Given the description of an element on the screen output the (x, y) to click on. 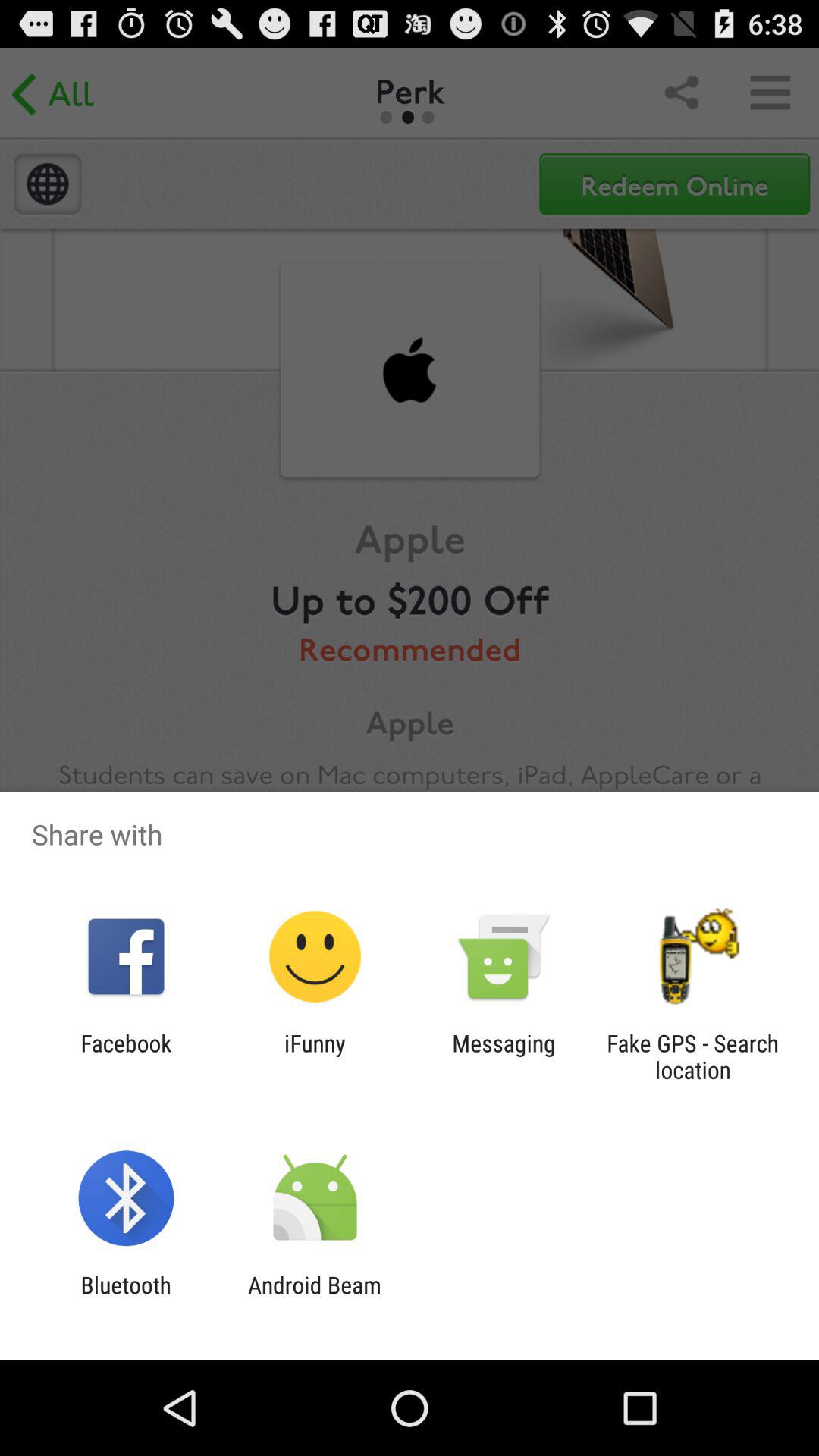
choose the icon to the right of the messaging app (692, 1056)
